Given the description of an element on the screen output the (x, y) to click on. 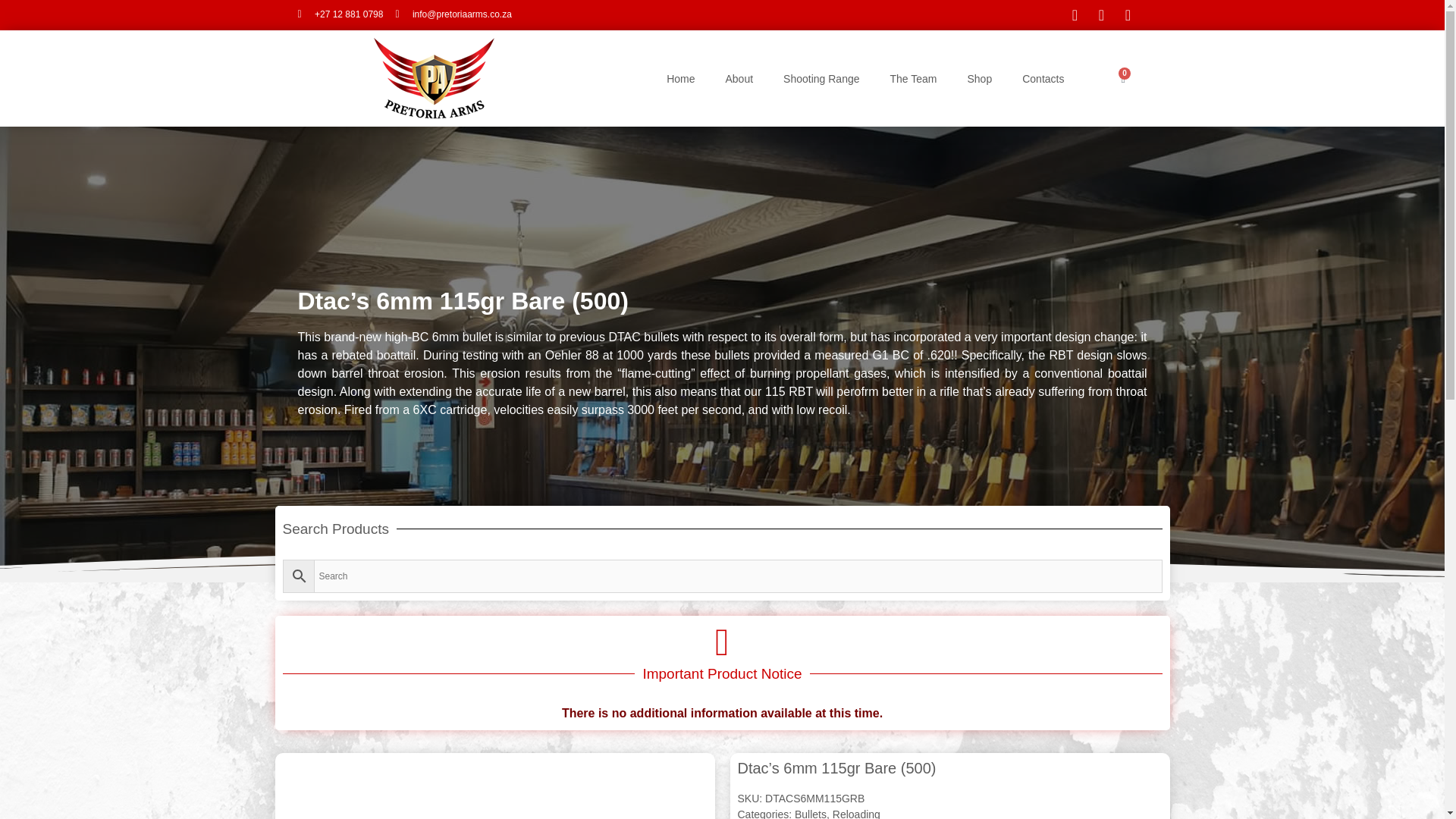
Home (680, 77)
Contacts (1042, 77)
About (739, 77)
0 (1122, 78)
Shooting Range (821, 77)
Shop (979, 77)
The Team (913, 77)
